Given the description of an element on the screen output the (x, y) to click on. 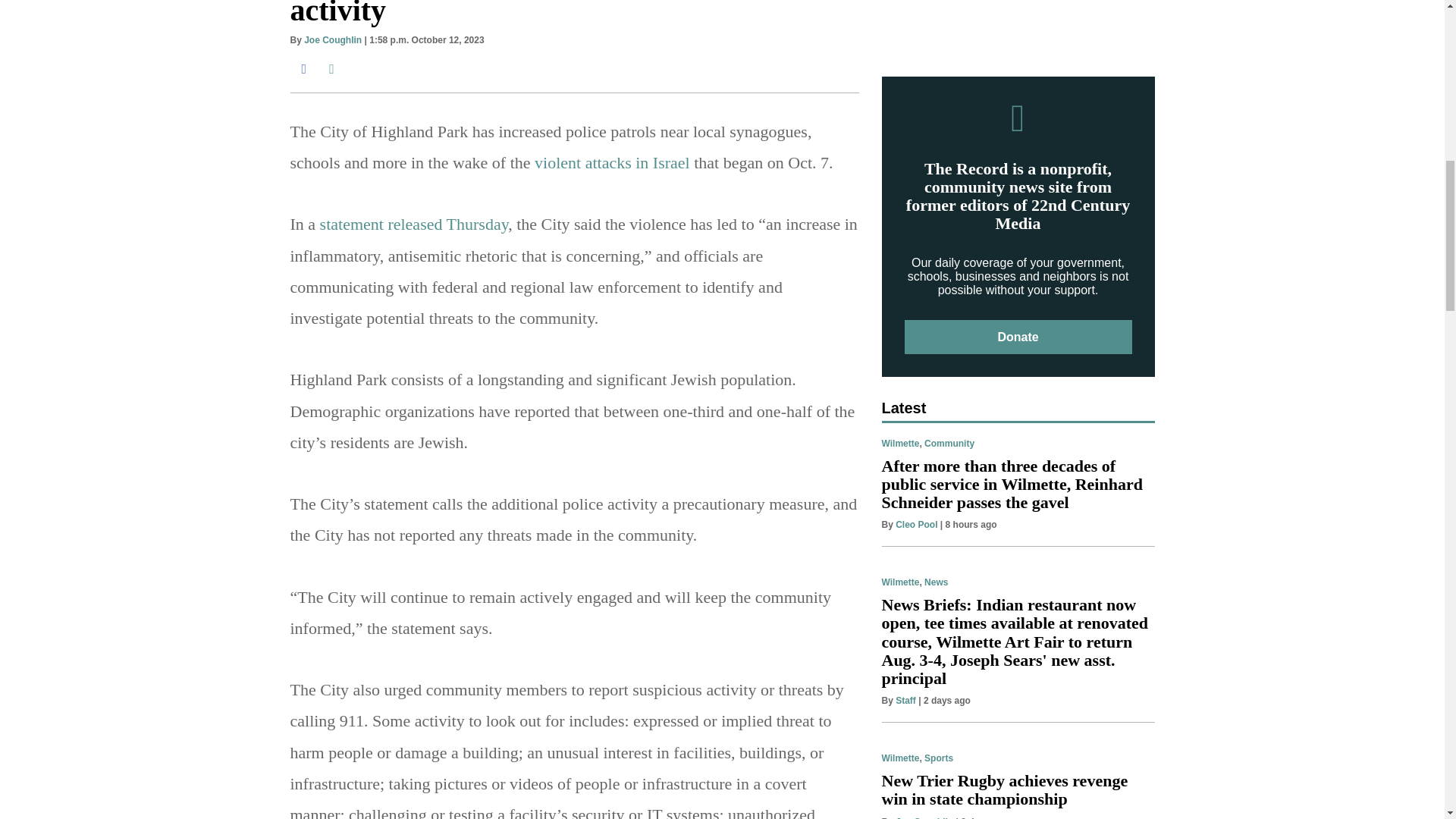
Joe Coughlin (332, 40)
